Given the description of an element on the screen output the (x, y) to click on. 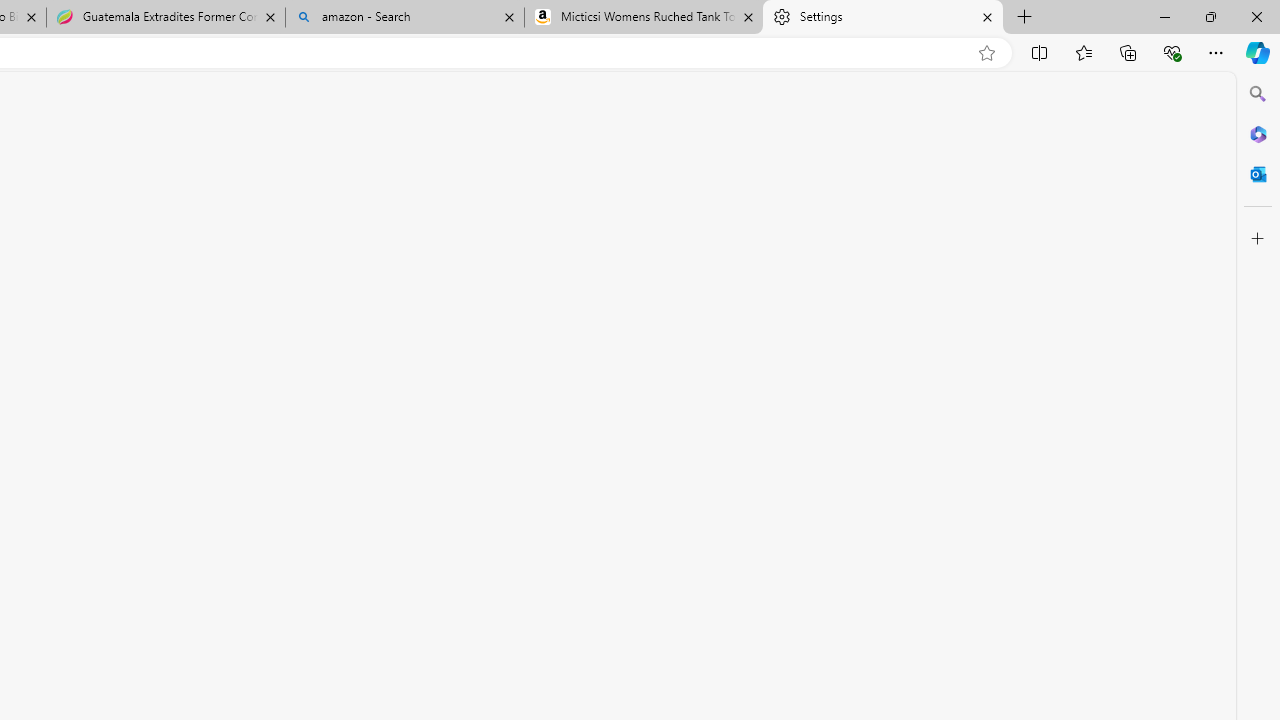
amazon - Search (404, 17)
